Given the description of an element on the screen output the (x, y) to click on. 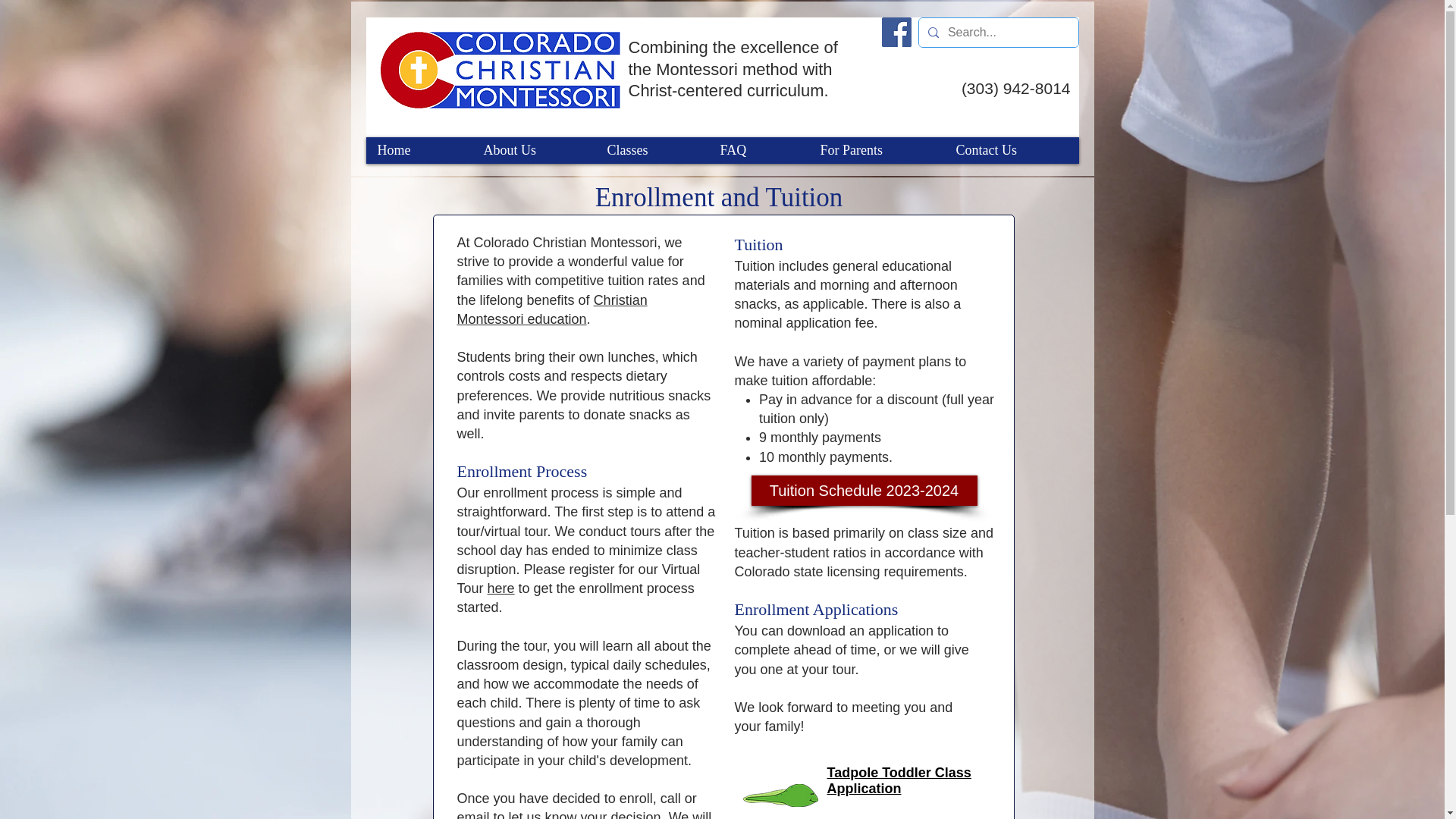
Home (417, 150)
Contact Us (1010, 150)
Christian Montessori education (551, 309)
About Us (533, 150)
For Parents (875, 150)
here (501, 588)
FAQ (757, 150)
Classes (650, 150)
Tuition Schedule 2023-2024 (863, 490)
